Given the description of an element on the screen output the (x, y) to click on. 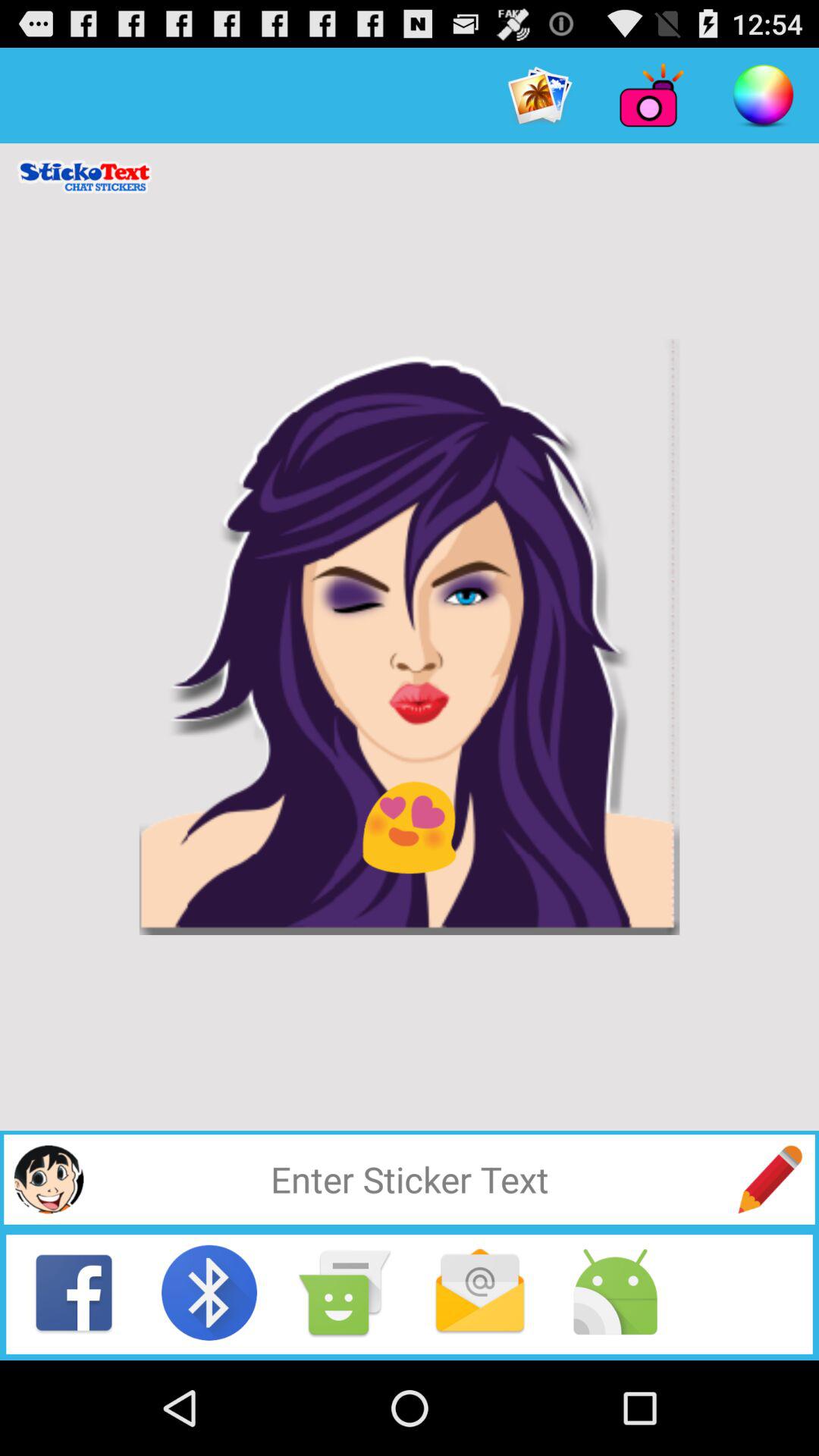
share via email (479, 1292)
